Given the description of an element on the screen output the (x, y) to click on. 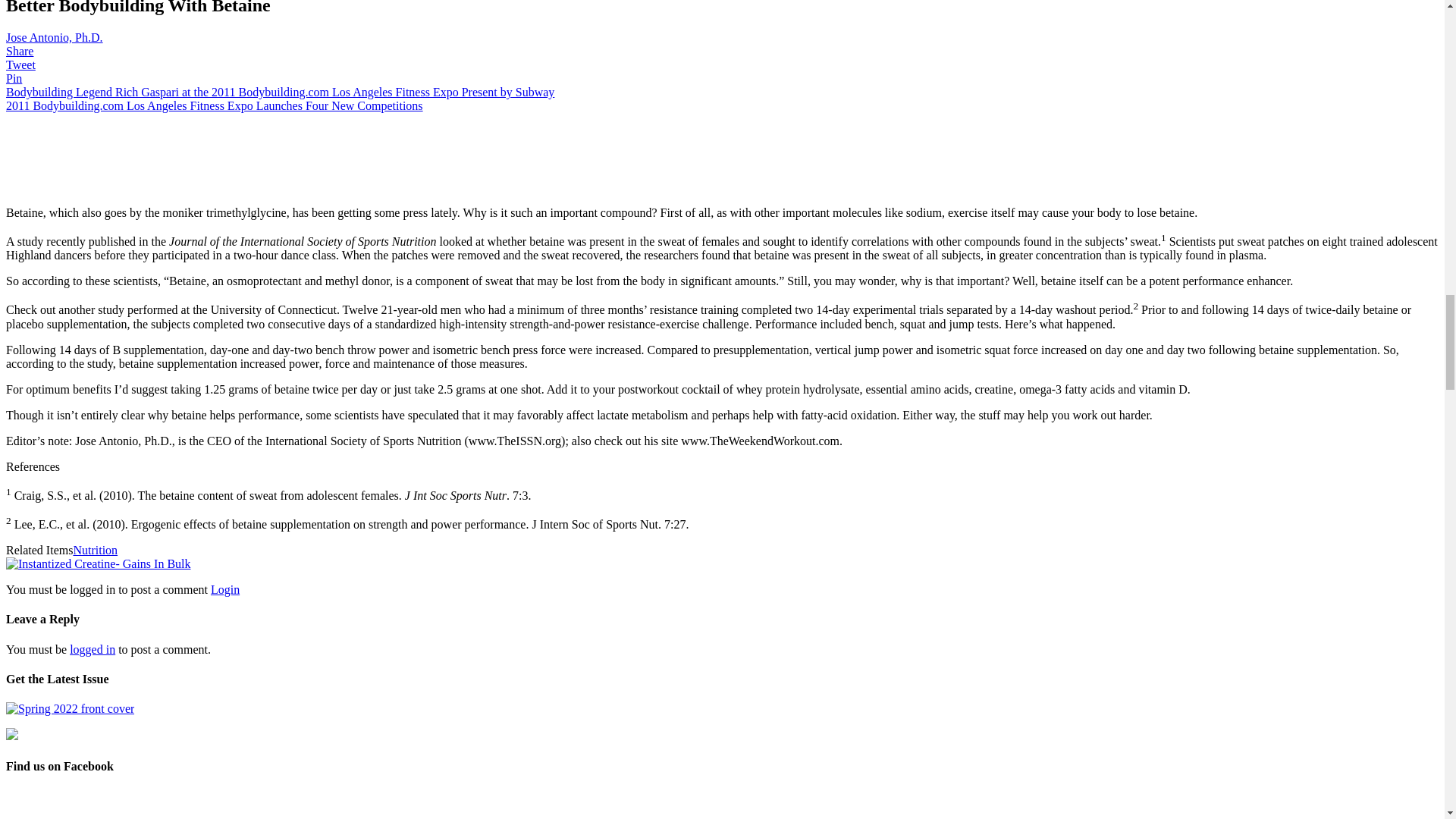
Posts by Jose Antonio, Ph.D. (54, 37)
Instantized Creatine - Gains In Bulk (97, 563)
